Given the description of an element on the screen output the (x, y) to click on. 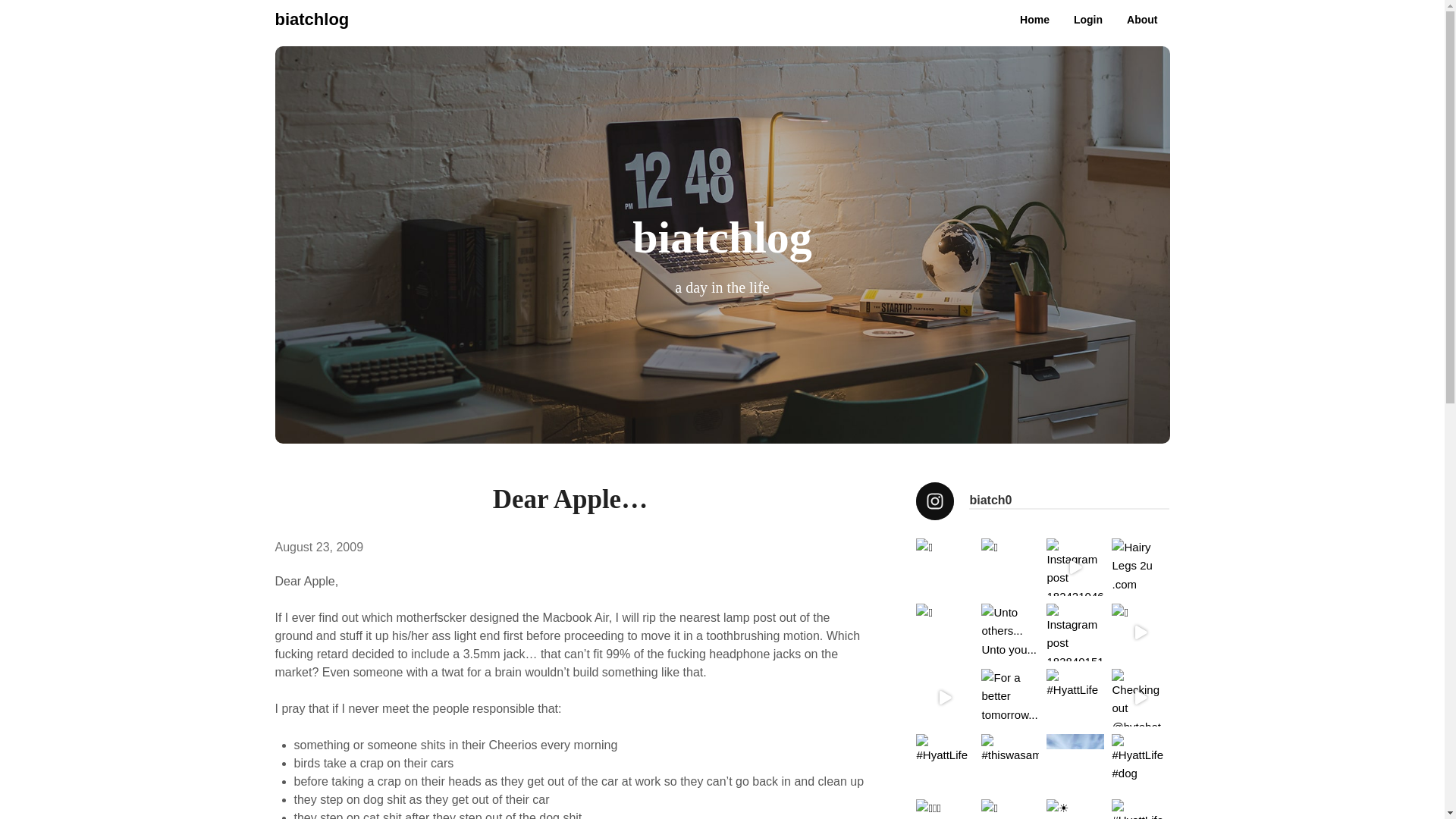
Home (1034, 20)
August 23, 2009 (318, 546)
About (1142, 20)
biatch0 (1042, 501)
biatchlog (312, 19)
Login (1088, 20)
